Given the description of an element on the screen output the (x, y) to click on. 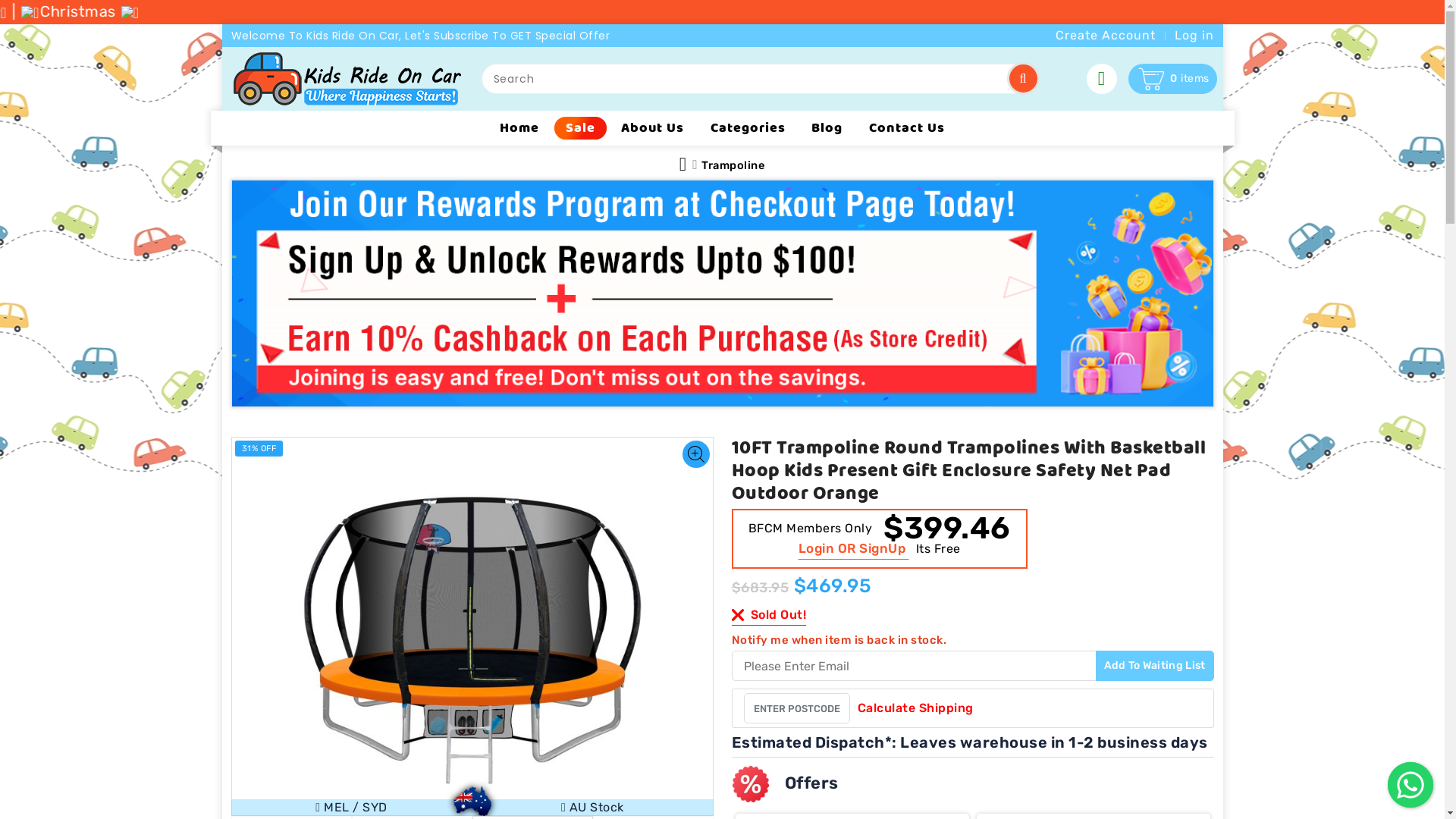
Home Element type: text (519, 128)
Search Products Element type: hover (1023, 78)
Search Element type: text (1023, 78)
Log in Element type: text (1189, 35)
Blog Element type: text (826, 128)
Add To Waiting List Element type: text (1154, 665)
Contact Us Element type: text (906, 128)
Categories Element type: text (748, 128)
About Us Element type: text (652, 128)
Sale Element type: text (577, 127)
Trampoline Element type: text (733, 165)
Offers Banner Element type: hover (721, 293)
Create Account Element type: text (1105, 35)
Login OR SignUp Element type: text (852, 547)
